Given the description of an element on the screen output the (x, y) to click on. 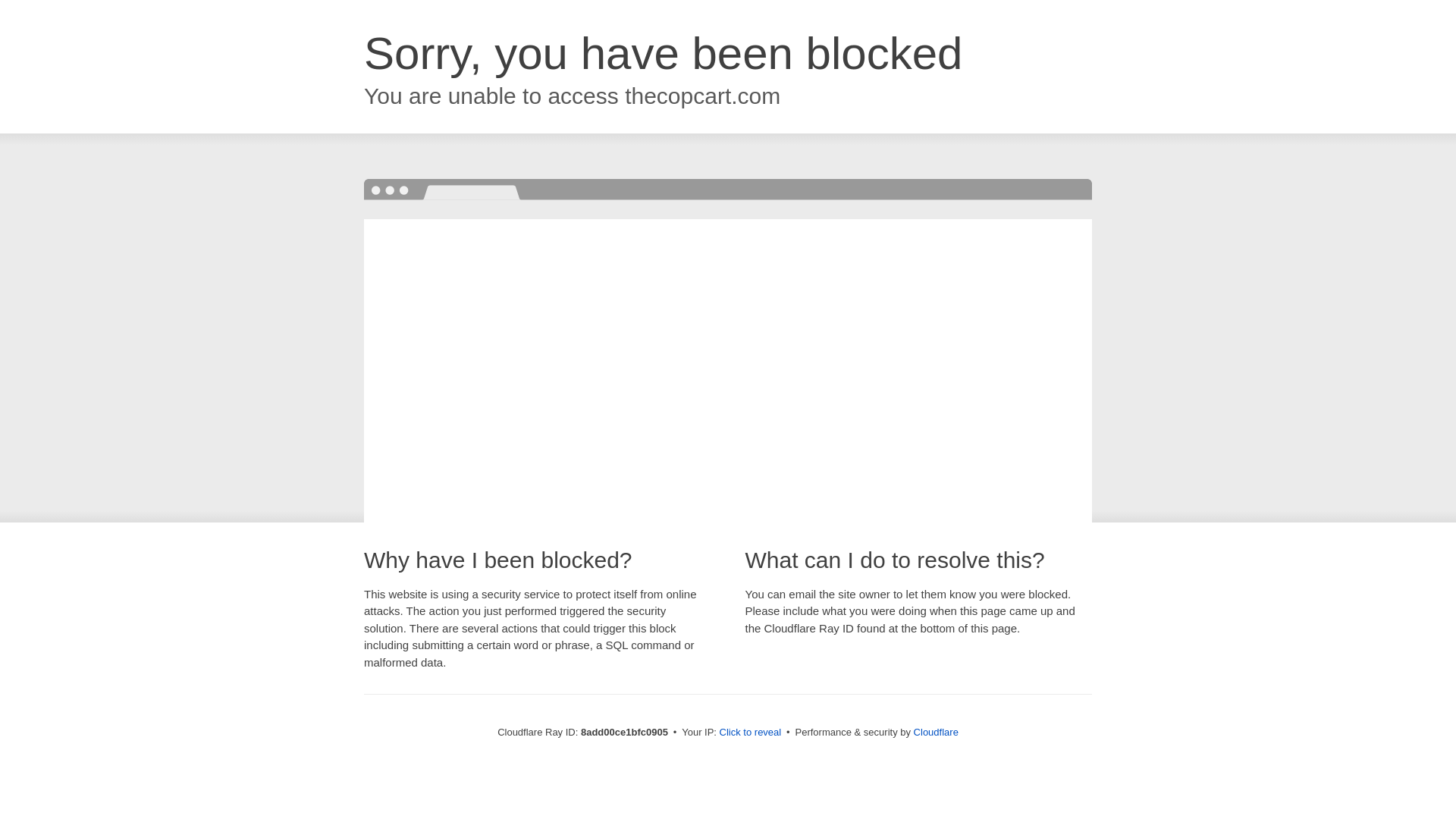
Cloudflare (936, 731)
Click to reveal (750, 732)
